Given the description of an element on the screen output the (x, y) to click on. 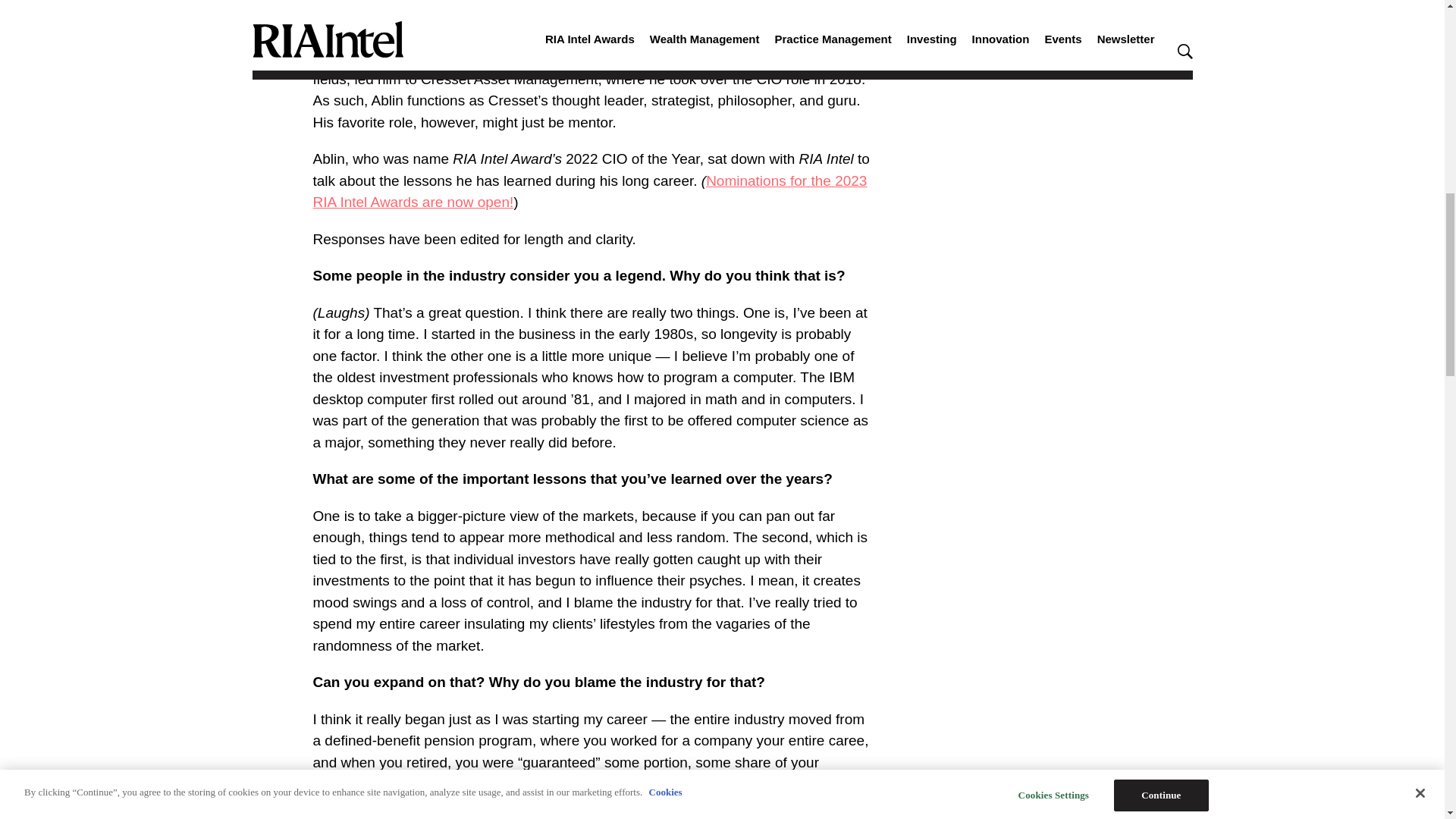
Nominations for the 2023 RIA Intel Awards are now open! (589, 191)
